Given the description of an element on the screen output the (x, y) to click on. 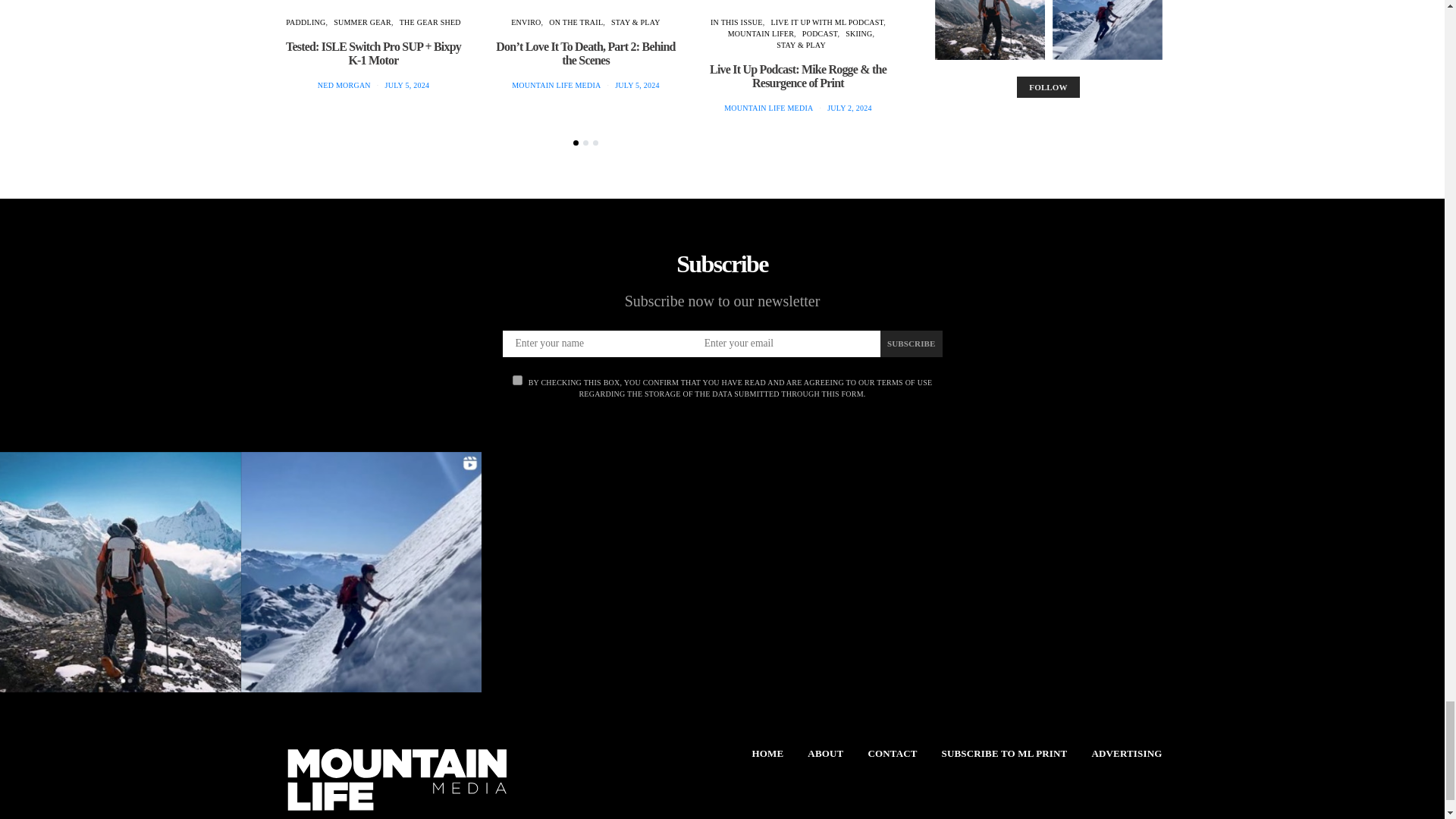
View all posts by Ned Morgan (344, 85)
View all posts by Mountain Life Media (767, 108)
on (517, 379)
View all posts by Mountain Life Media (555, 85)
